Given the description of an element on the screen output the (x, y) to click on. 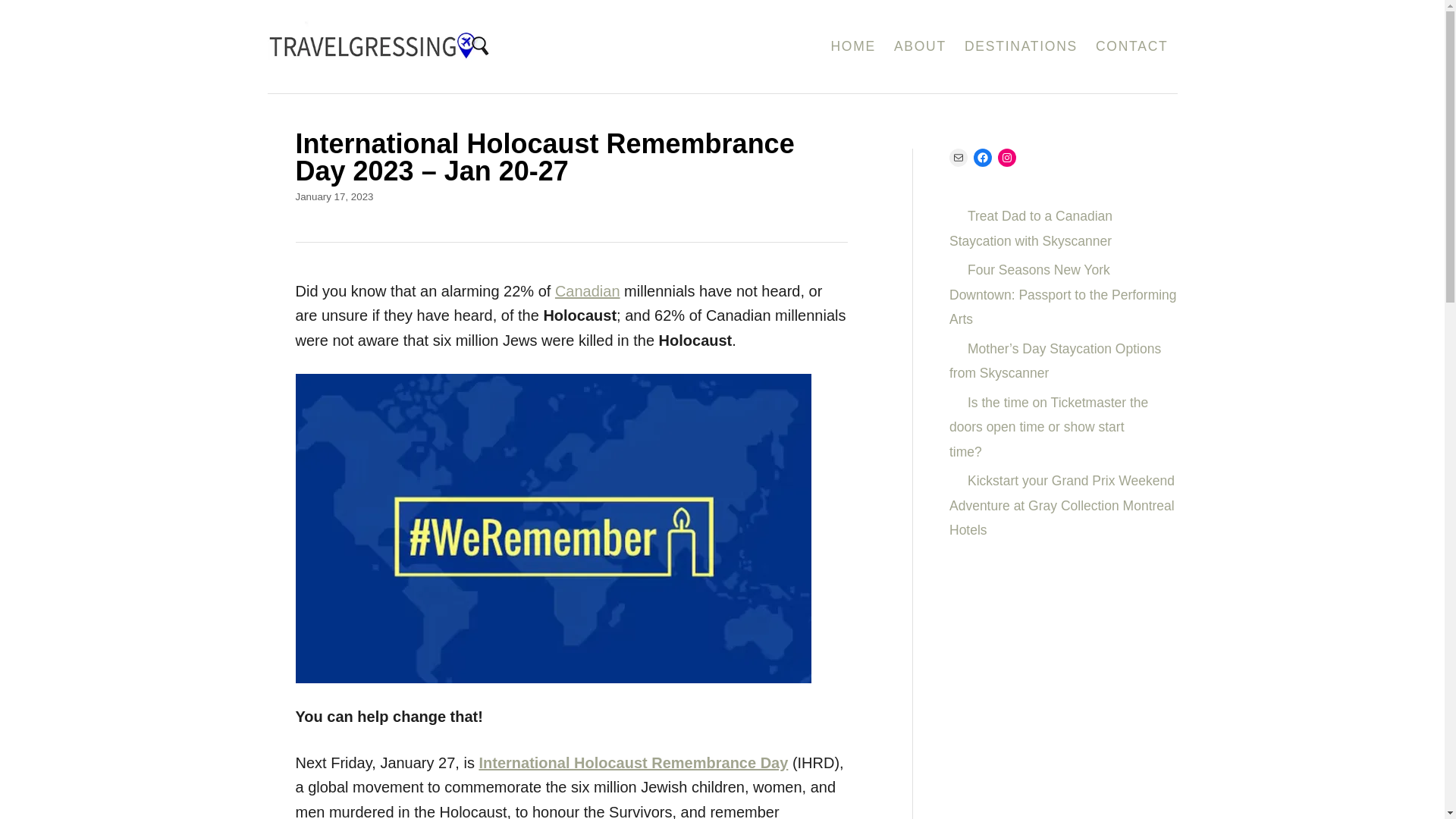
International Holocaust Remembrance Day (633, 762)
HOME (853, 46)
Canadian (587, 290)
DESTINATIONS (1020, 46)
CONTACT (1131, 46)
Travelgressing (450, 46)
ABOUT (920, 46)
